Given the description of an element on the screen output the (x, y) to click on. 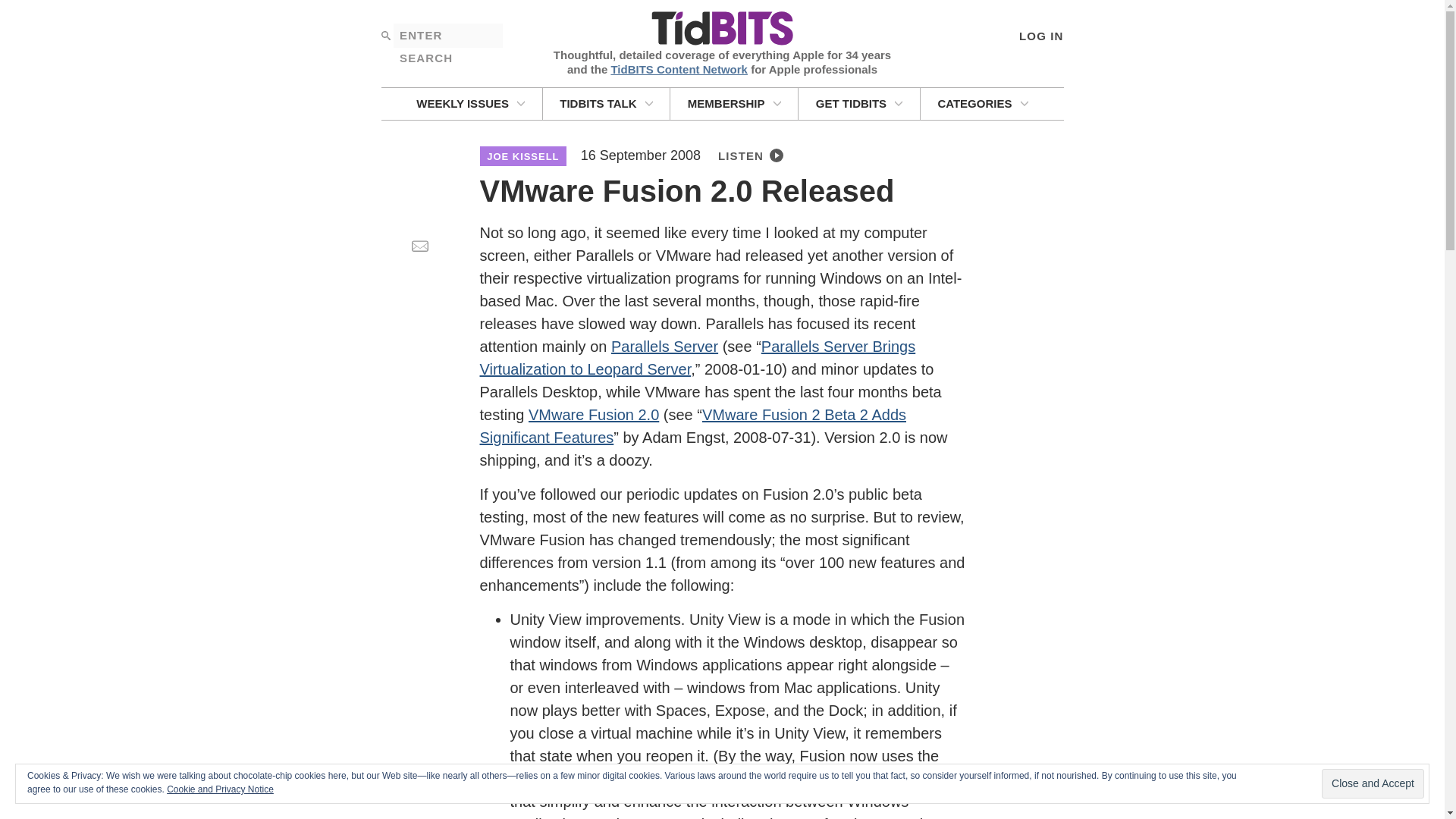
CATEGORIES (982, 103)
TidBITS Content Network (679, 68)
Search (385, 35)
GET TIDBITS (858, 103)
TidBITS (721, 28)
MEMBERSHIP (733, 103)
WEEKLY ISSUES (469, 103)
TIDBITS TALK (606, 103)
Click to email a link to a friend (419, 246)
LOG IN (1040, 34)
Close and Accept (1372, 783)
